Given the description of an element on the screen output the (x, y) to click on. 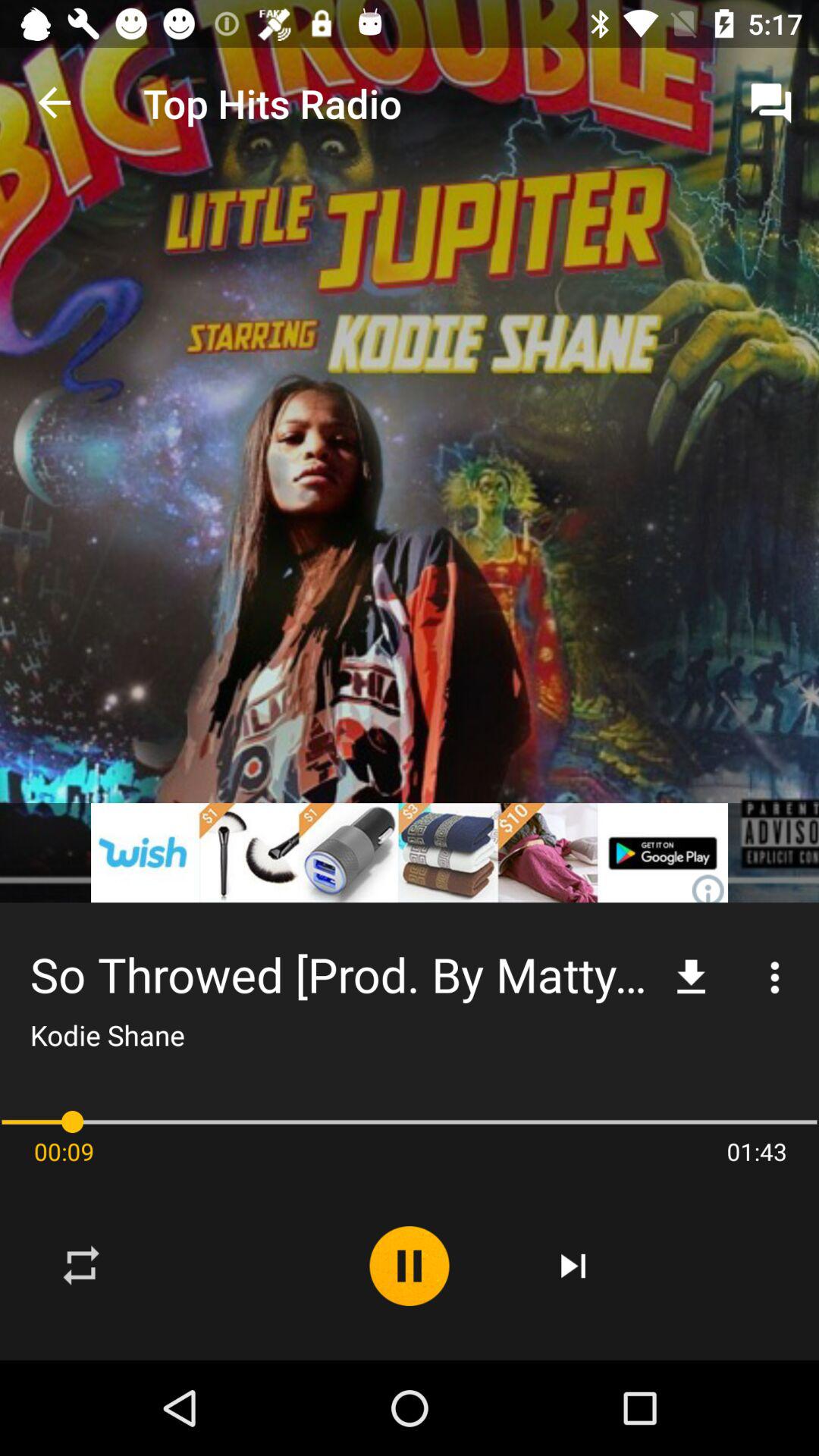
flip until the kodie shane item (107, 1034)
